Given the description of an element on the screen output the (x, y) to click on. 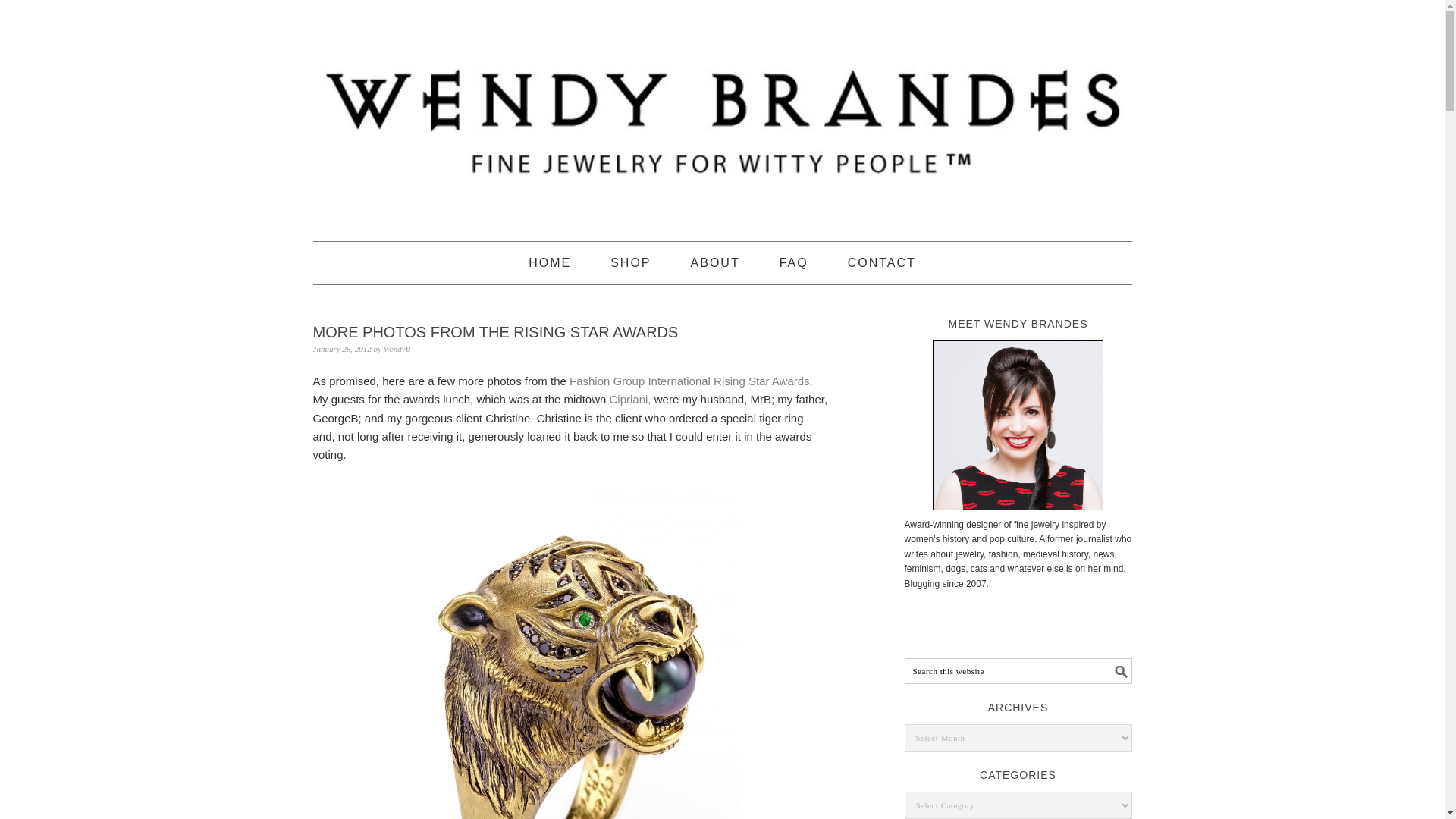
ABOUT (714, 262)
SHOP (630, 262)
CONTACT (881, 262)
FAQ (793, 262)
tiger2crop-754x1024 (569, 653)
Cipriani, (630, 399)
WendyB (397, 347)
HOME (549, 262)
Fashion Group International Rising Star Awards (689, 380)
